Given the description of an element on the screen output the (x, y) to click on. 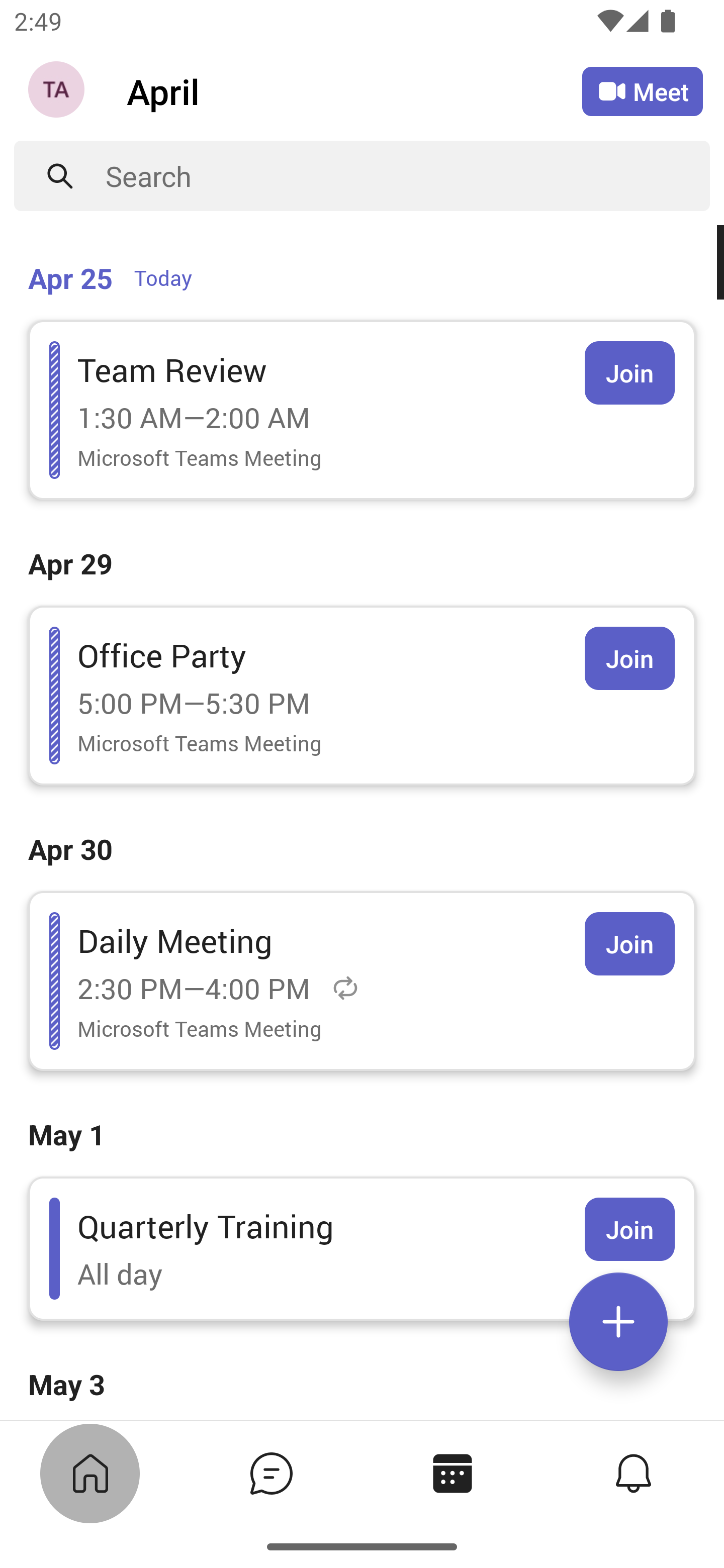
Navigation (58, 91)
Meet Meet now or join with an ID (642, 91)
April April Calendar Agenda View (354, 90)
Search (407, 176)
Join (629, 372)
Join (629, 658)
Join (629, 943)
Join (629, 1228)
Expand meetings menu (618, 1321)
Home tab,1 of 4, not selected (90, 1472)
Chat tab,2 of 4, not selected (271, 1472)
Calendar tab, 3 of 4 (452, 1472)
Activity tab,4 of 4, not selected (633, 1472)
